Given the description of an element on the screen output the (x, y) to click on. 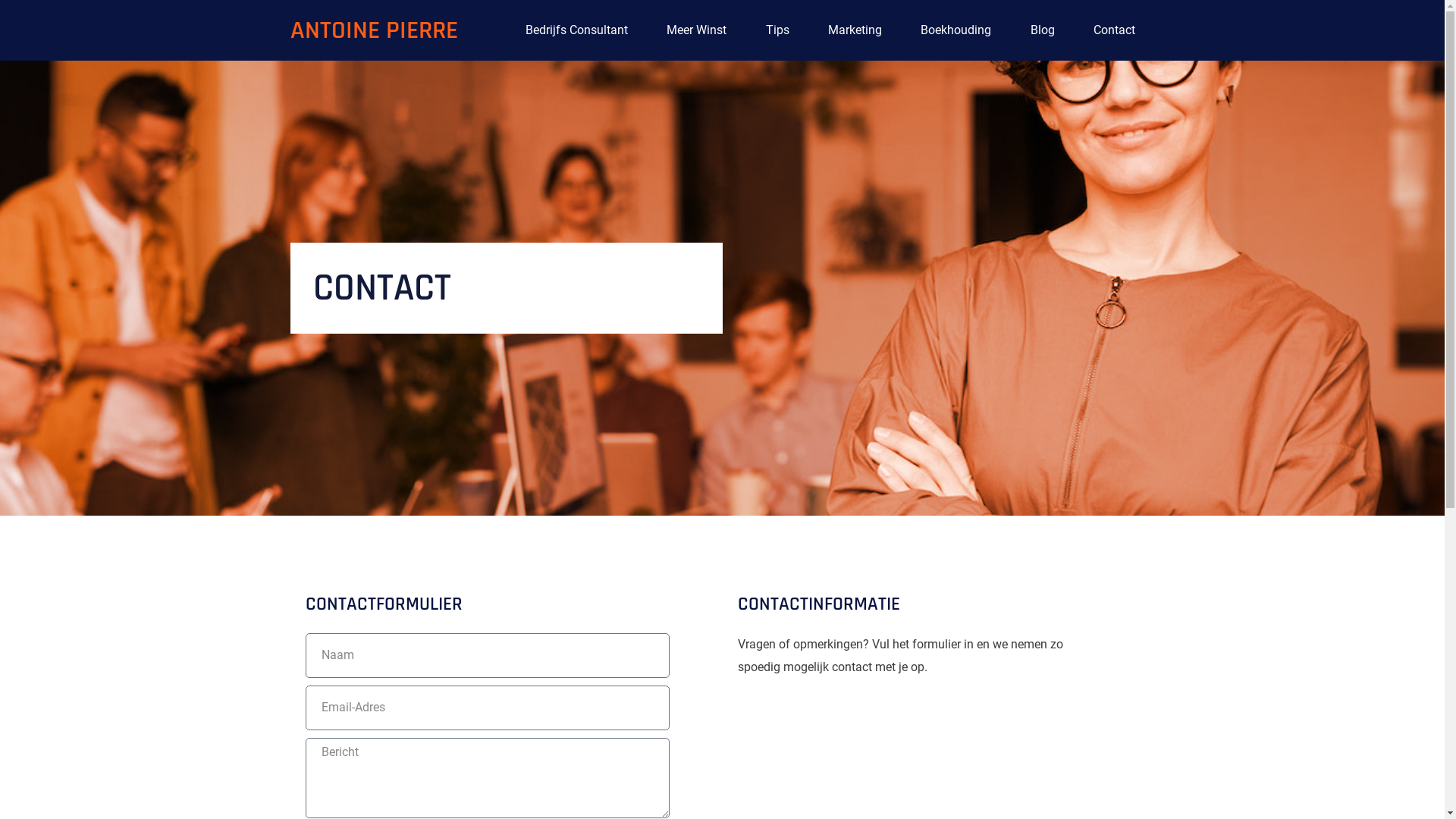
Tips Element type: text (777, 29)
Bedrijfs Consultant Element type: text (576, 29)
Blog Element type: text (1041, 29)
Boekhouding Element type: text (955, 29)
Marketing Element type: text (854, 29)
Contact Element type: text (1113, 29)
Meer Winst Element type: text (696, 29)
ANTOINE PIERRE Element type: text (373, 30)
